Given the description of an element on the screen output the (x, y) to click on. 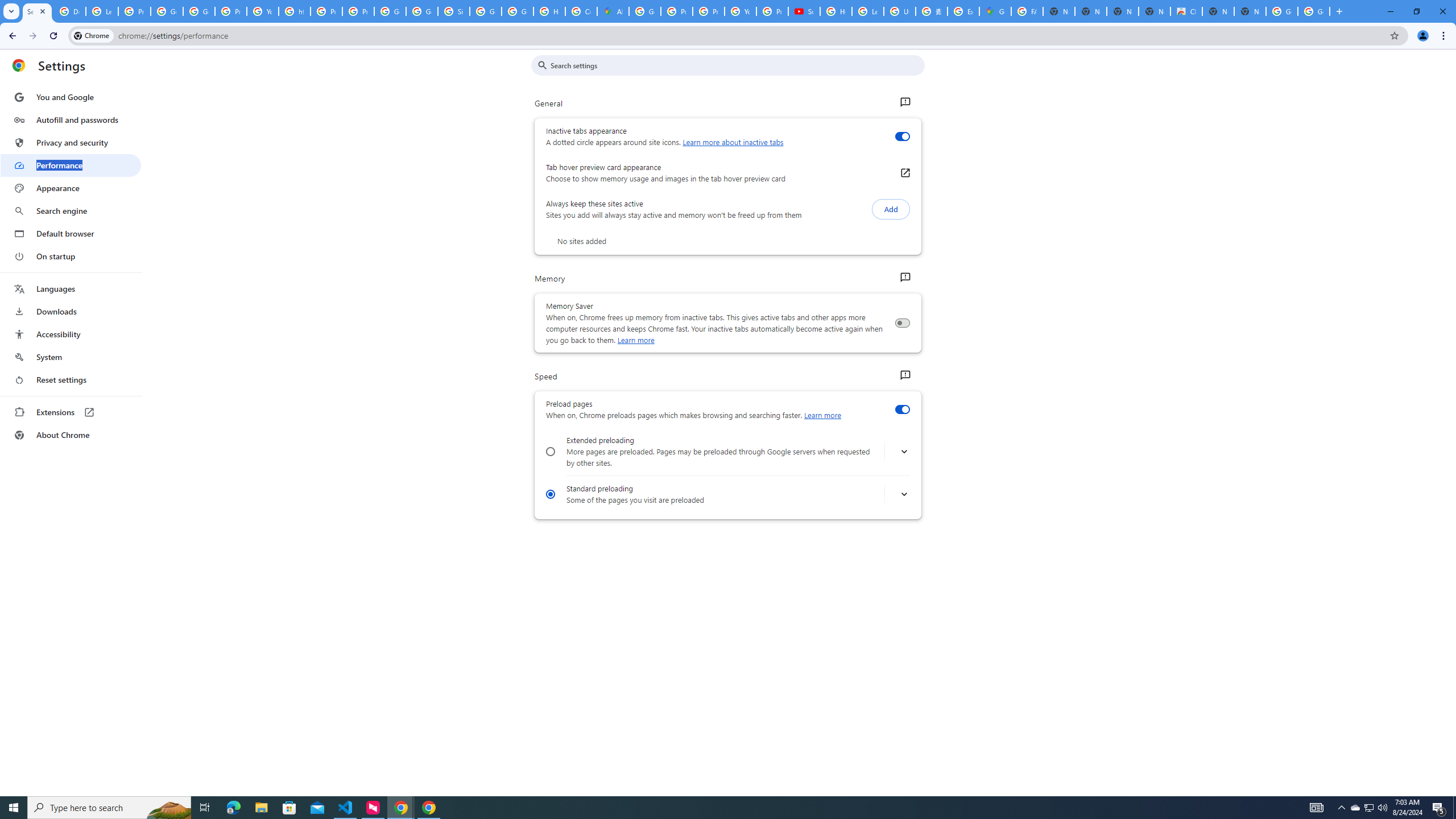
https://scholar.google.com/ (294, 11)
Speed (904, 375)
Google Images (1281, 11)
Autofill and passwords (70, 119)
Memory Saver (901, 323)
Reset settings (70, 379)
 More info about turning on extended preloading (903, 451)
Languages (70, 288)
Memory (904, 277)
